Given the description of an element on the screen output the (x, y) to click on. 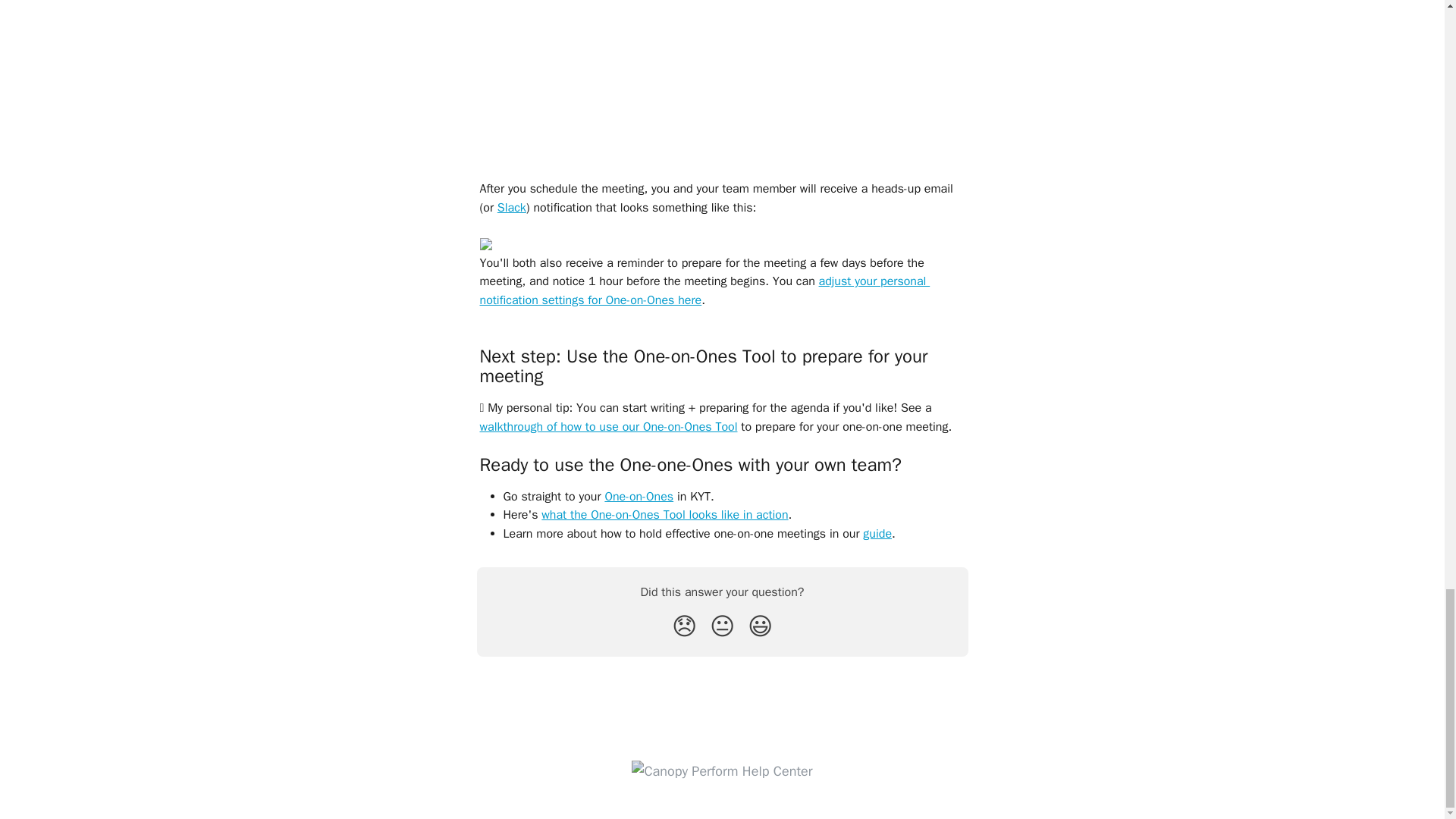
Slack (511, 207)
what the One-on-Ones Tool looks like in action (664, 514)
One-on-Ones (638, 496)
walkthrough of how to use our One-on-Ones Tool (607, 426)
guide (877, 533)
